Given the description of an element on the screen output the (x, y) to click on. 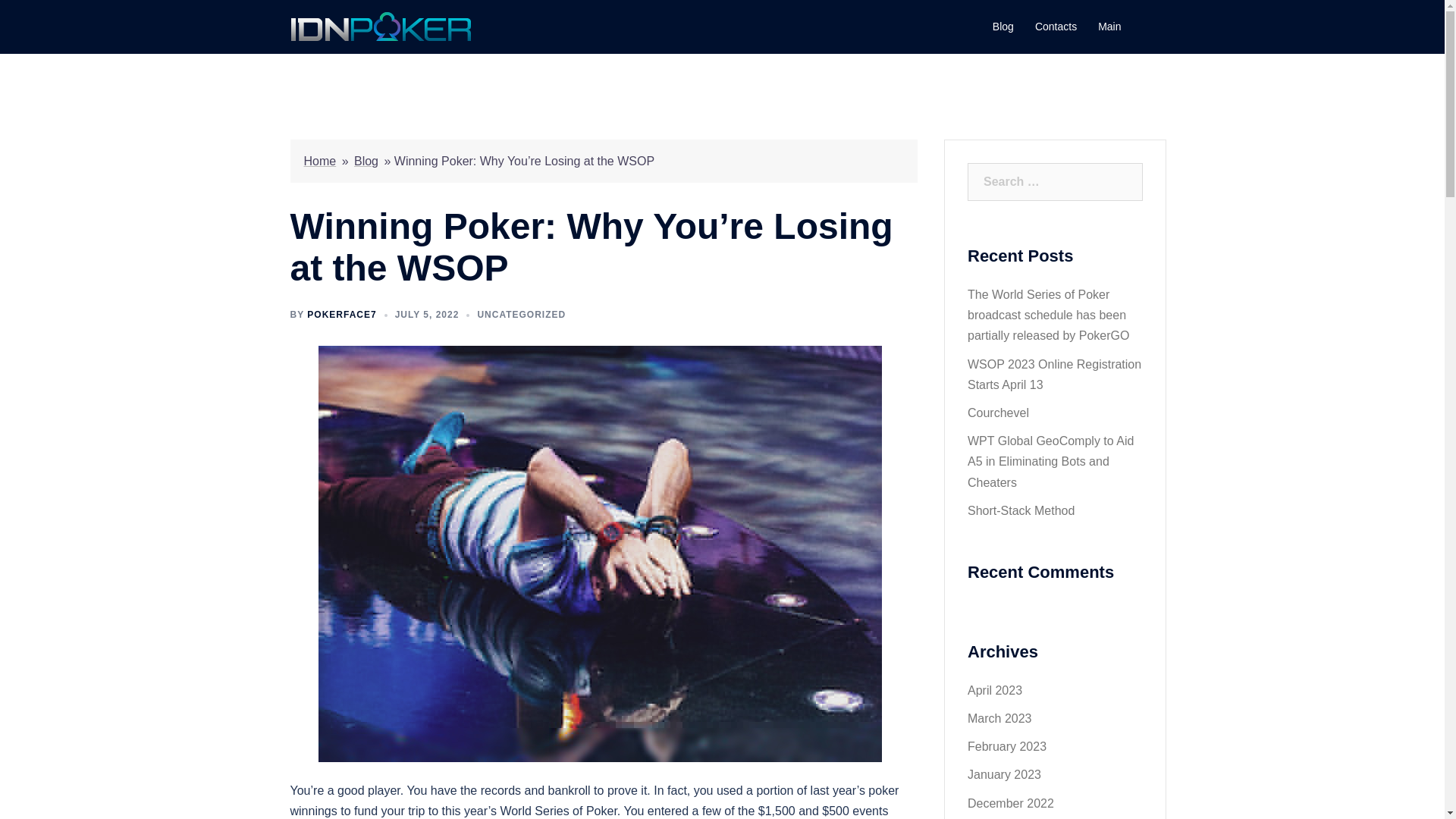
Blog (365, 160)
JULY 5, 2022 (427, 314)
WSOP 2023 Online Registration Starts April 13 (1054, 374)
Short-Stack Method (1021, 510)
January 2023 (1004, 774)
Home (319, 160)
IDN POKER (380, 25)
March 2023 (1000, 717)
April 2023 (995, 689)
